Given the description of an element on the screen output the (x, y) to click on. 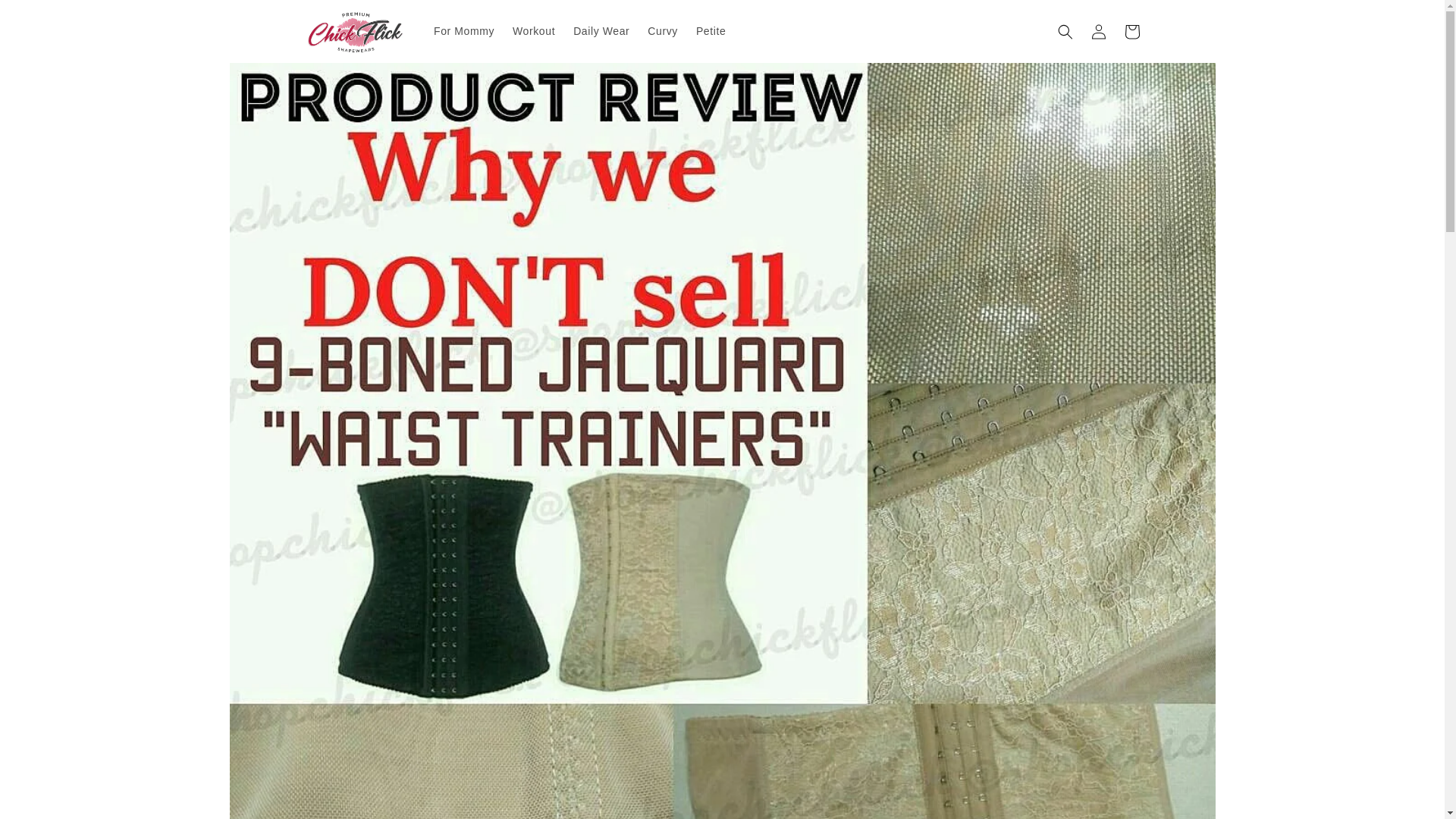
Skip to content (45, 17)
Workout (533, 30)
Curvy (663, 30)
Daily Wear (601, 30)
For Mommy (464, 30)
Log in (1098, 31)
Cart (1131, 31)
Petite (711, 30)
